Given the description of an element on the screen output the (x, y) to click on. 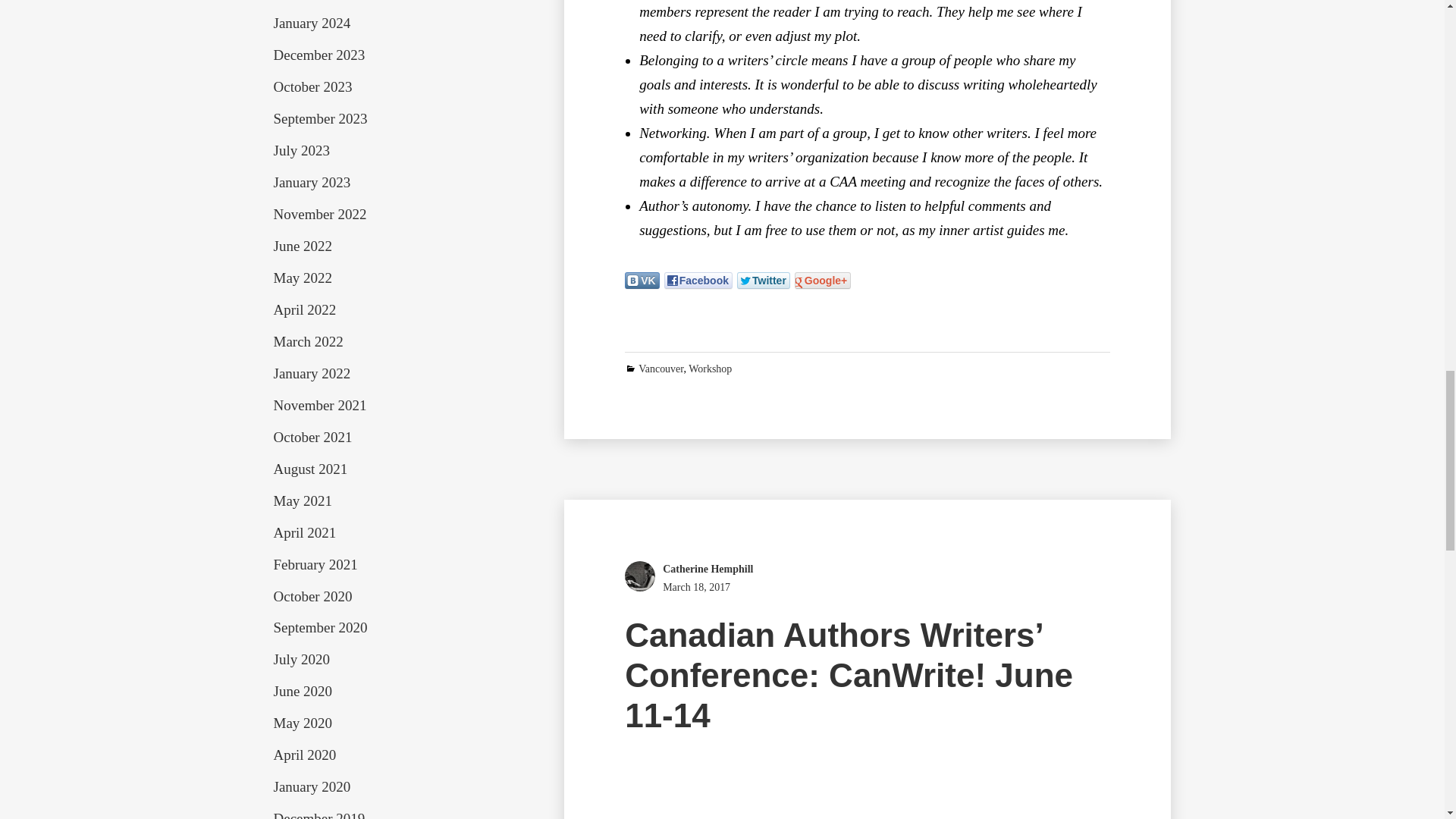
Share link on Facebook (697, 280)
May 2022 (302, 277)
January 2023 (311, 182)
Share link on Twitter (763, 280)
June 2022 (302, 245)
November 2022 (319, 213)
Share link on VK (641, 280)
October 2023 (312, 86)
July 2023 (301, 150)
January 2024 (311, 23)
April 2022 (304, 309)
December 2023 (319, 54)
September 2023 (319, 118)
